Given the description of an element on the screen output the (x, y) to click on. 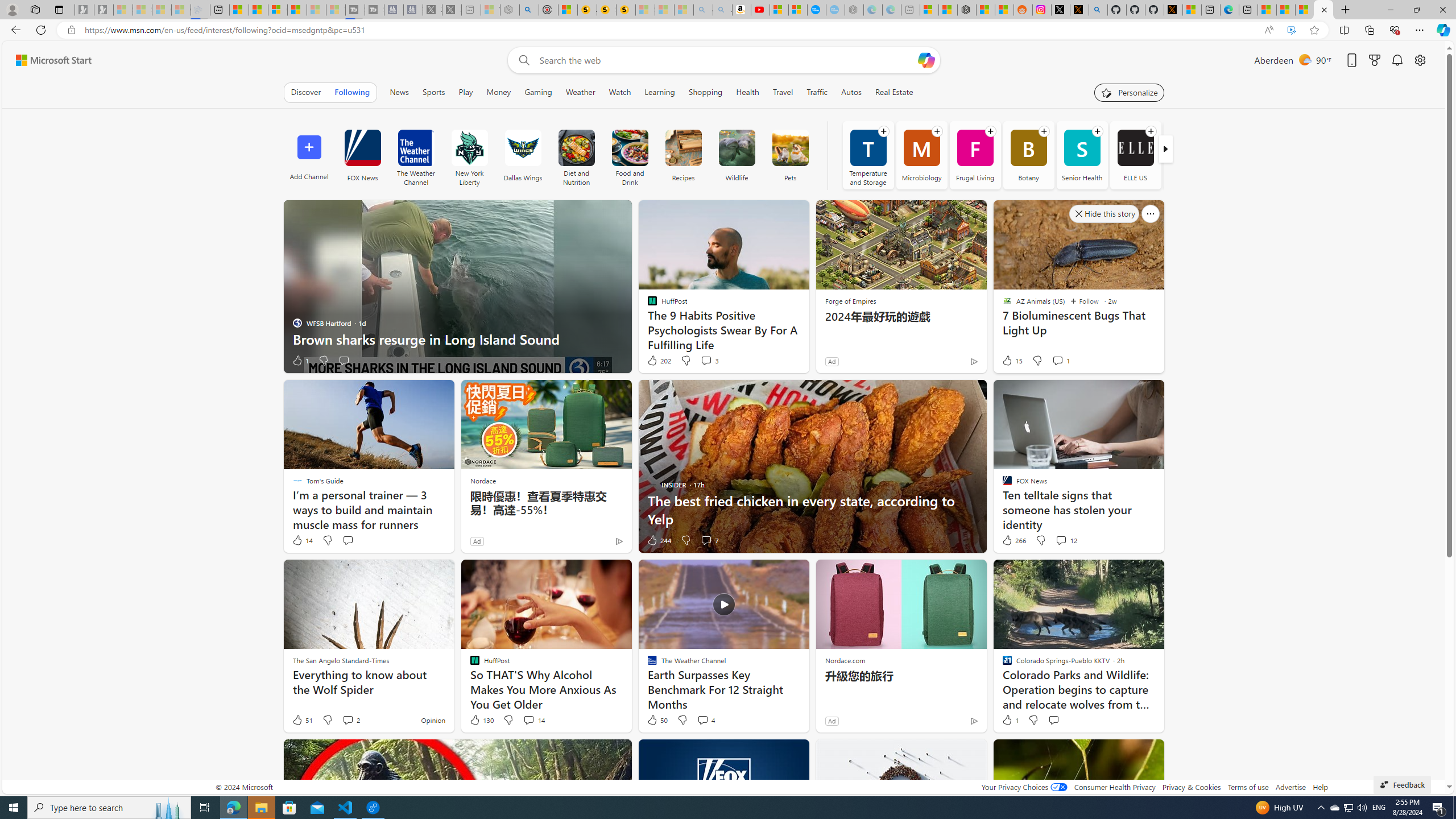
Dallas Wings (522, 155)
Wildlife (736, 147)
The most popular Google 'how to' searches - Sleeping (835, 9)
ELLE US (1135, 155)
The Weather Channel (415, 147)
FOX News (362, 155)
Wildlife - MSN - Sleeping (490, 9)
130 Like (480, 719)
